Given the description of an element on the screen output the (x, y) to click on. 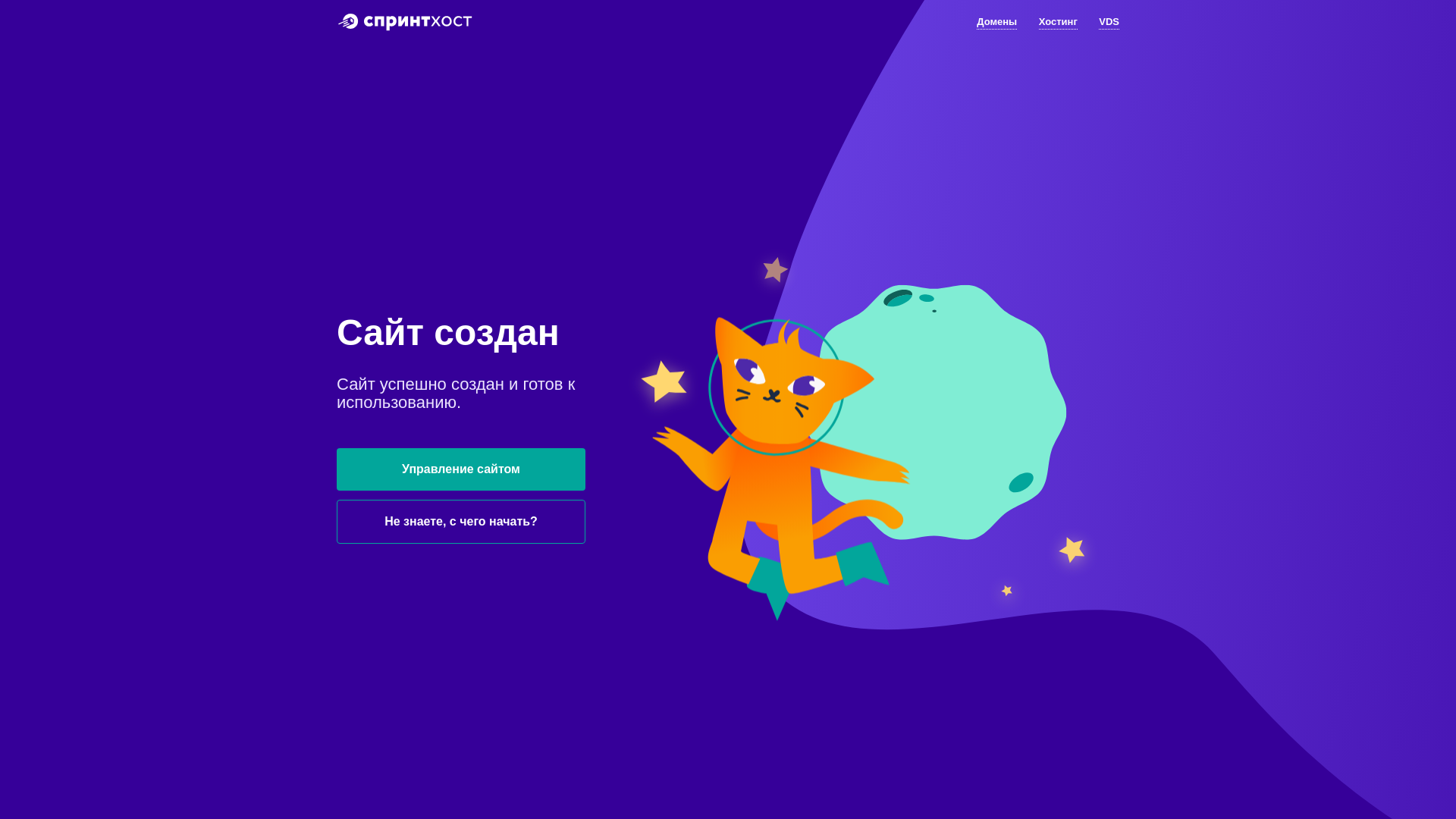
VDS Element type: text (1108, 22)
